Given the description of an element on the screen output the (x, y) to click on. 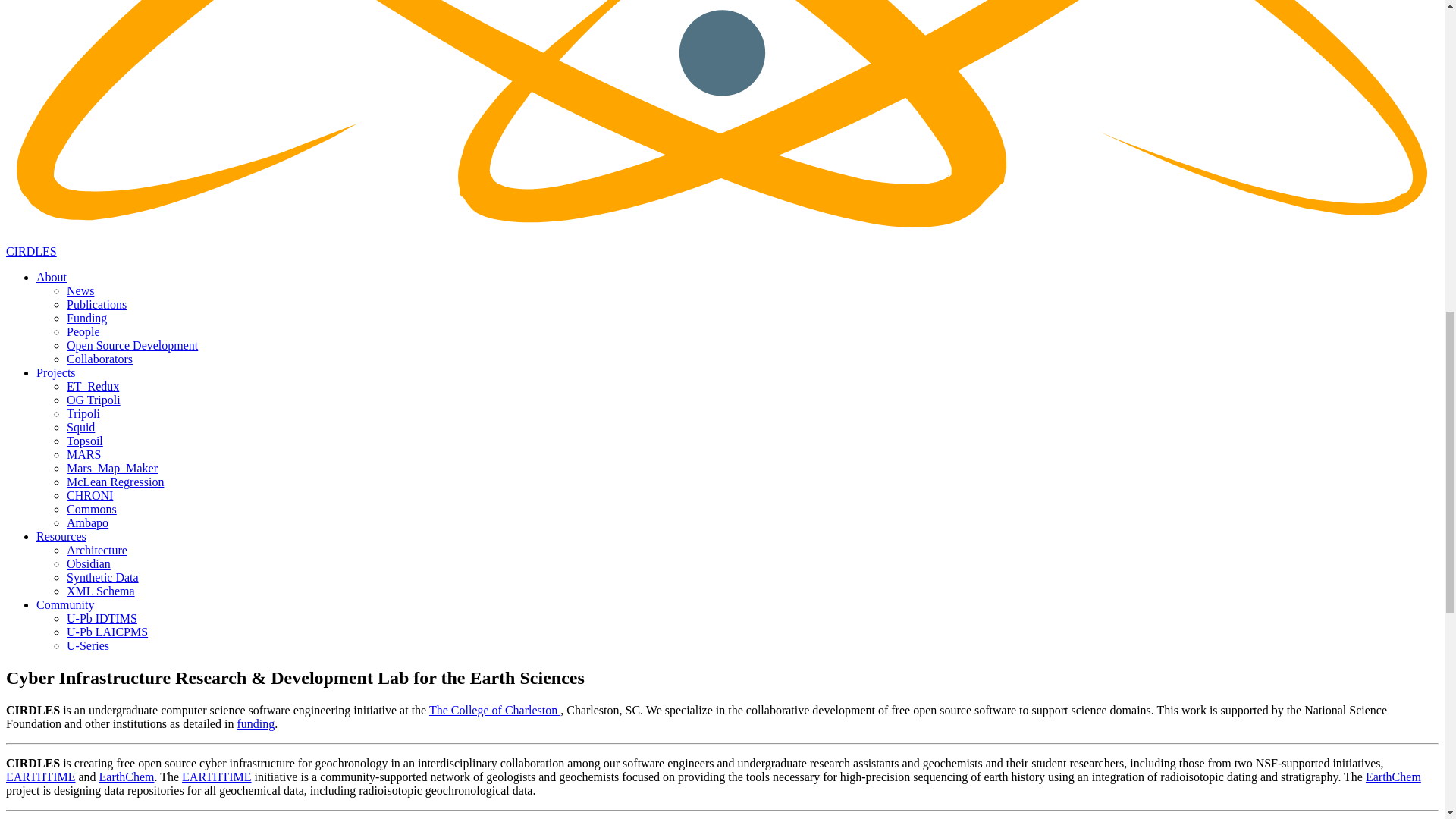
About (51, 277)
XML Schema (100, 590)
Obsidian (88, 563)
Topsoil (84, 440)
Funding (86, 318)
funding (255, 723)
EARTHTIME (40, 776)
MARS (83, 454)
Collaborators (99, 358)
Tripoli (83, 413)
